Given the description of an element on the screen output the (x, y) to click on. 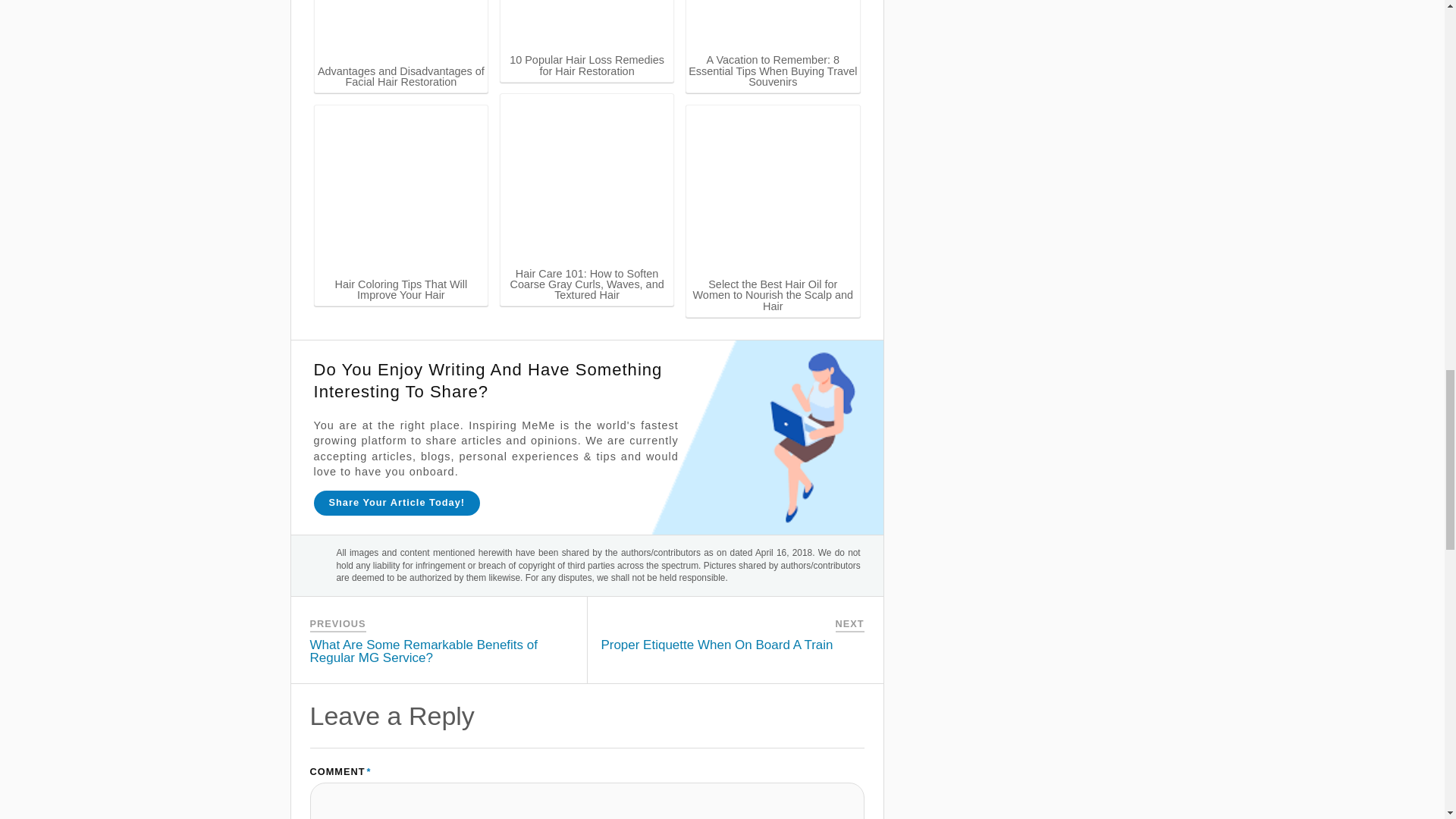
10 Popular Hair Loss Remedies for Hair Restoration (586, 26)
Hair Coloring Tips That Will Improve Your Hair (401, 191)
Advantages and Disadvantages of Facial Hair Restoration (401, 31)
